Given the description of an element on the screen output the (x, y) to click on. 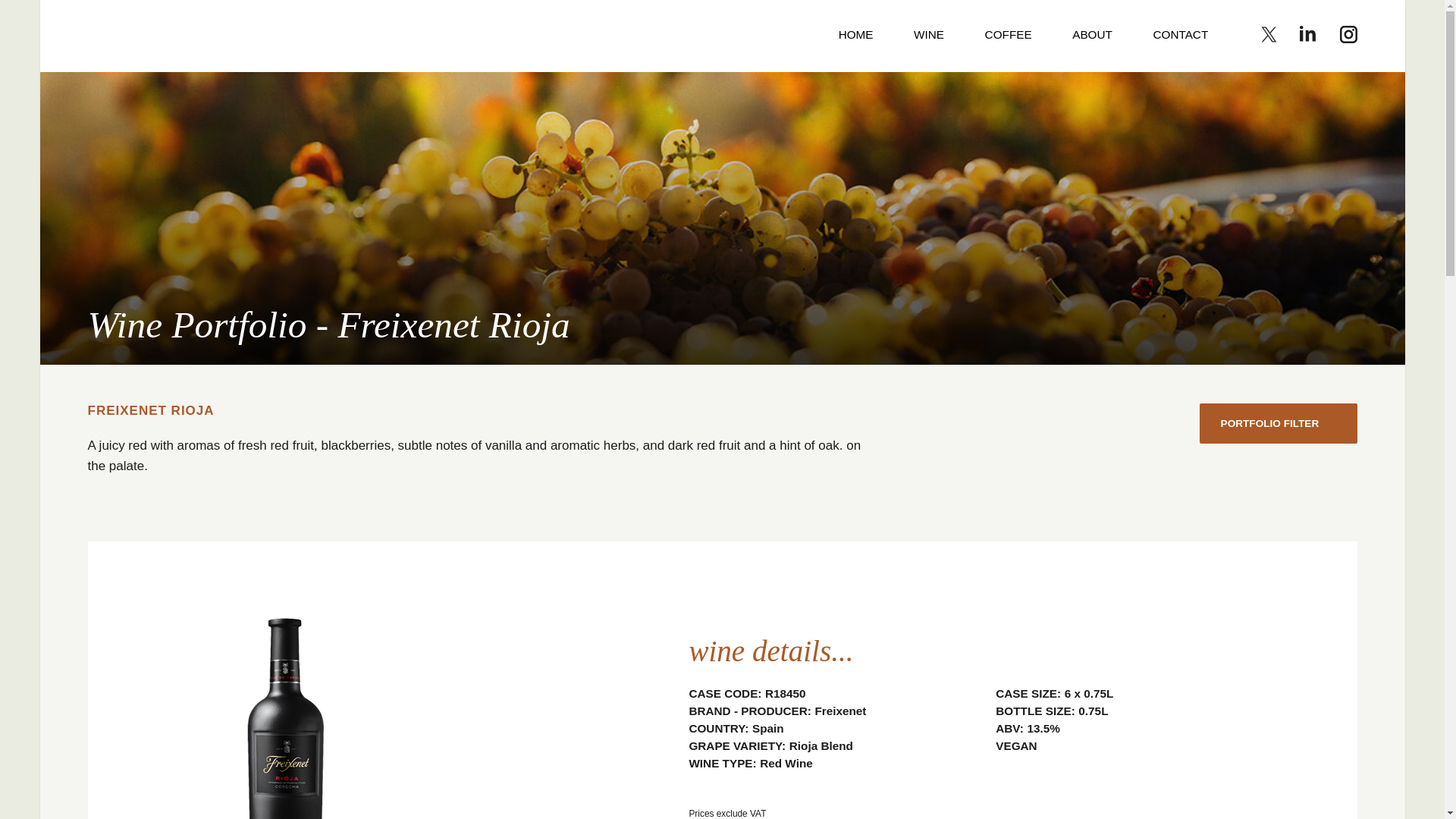
WINE (928, 35)
CONTACT (1180, 35)
HOME (855, 35)
PORTFOLIO FILTER (1277, 423)
COFFEE (1008, 35)
ABOUT (1091, 35)
Freixenet Rioja (186, 35)
